Given the description of an element on the screen output the (x, y) to click on. 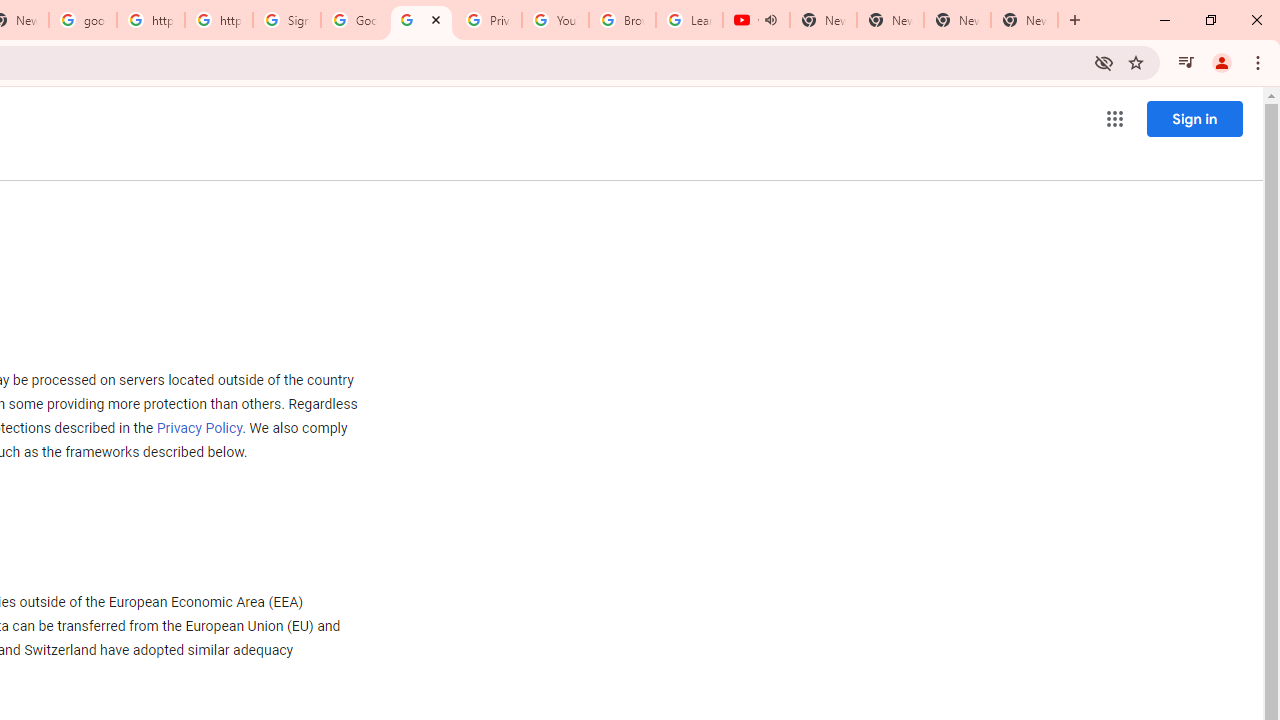
Sign in - Google Accounts (287, 20)
https://scholar.google.com/ (219, 20)
